Given the description of an element on the screen output the (x, y) to click on. 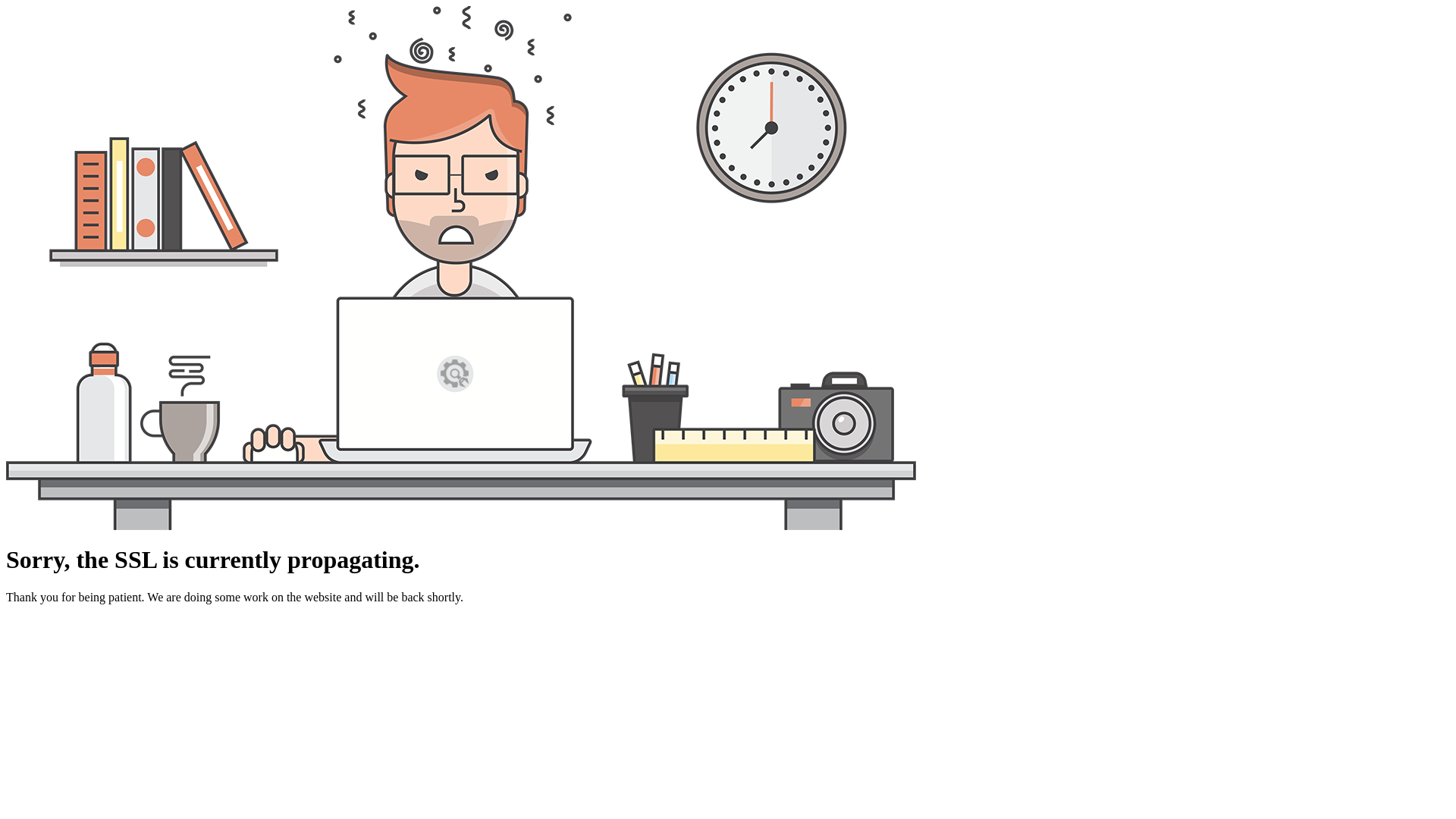
Mad Designer at work Element type: hover (461, 268)
